Given the description of an element on the screen output the (x, y) to click on. 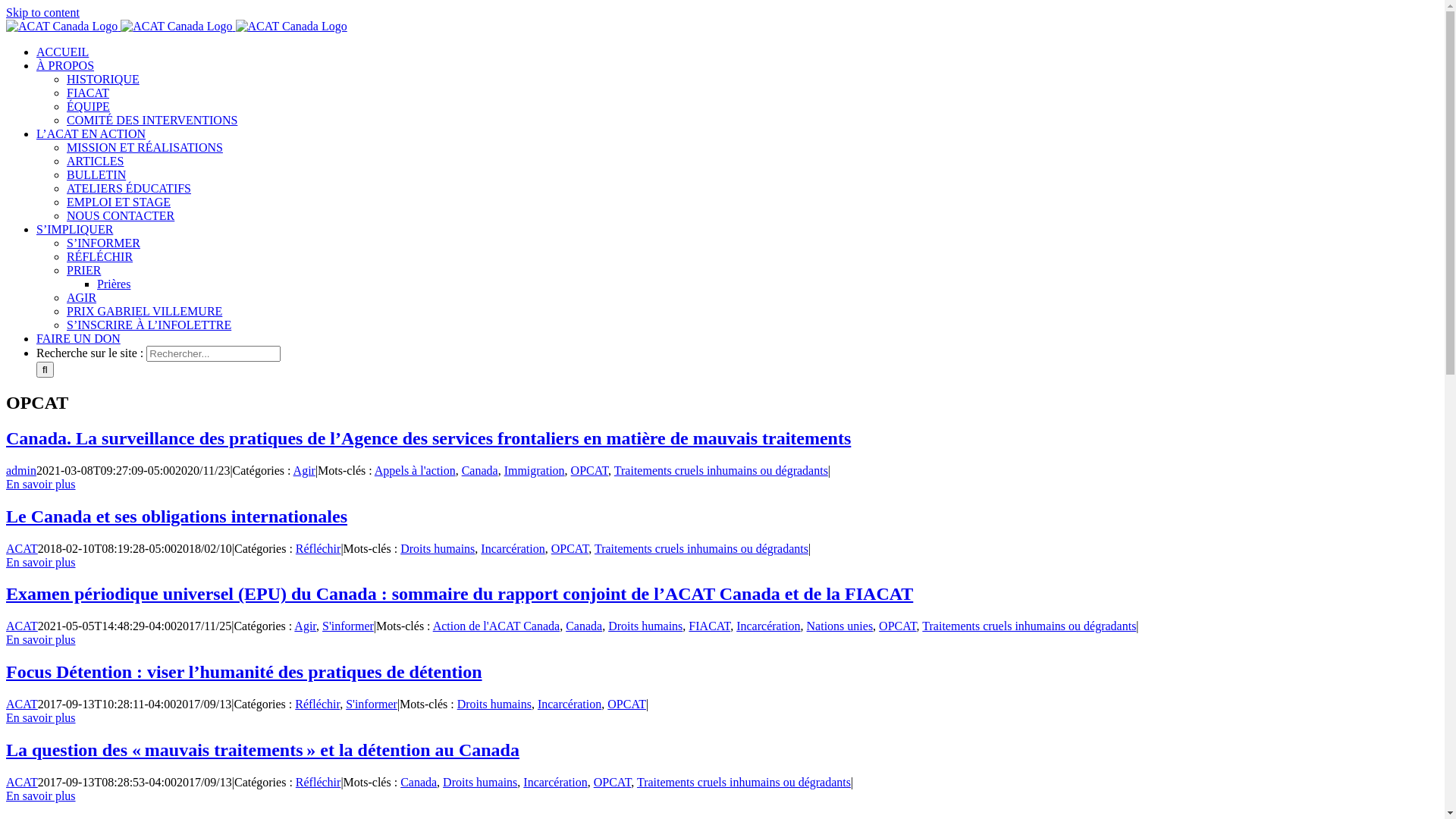
OPCAT Element type: text (570, 548)
En savoir plus Element type: text (40, 639)
ACAT Element type: text (21, 781)
Droits humains Element type: text (645, 625)
Skip to content Element type: text (42, 12)
ACAT Element type: text (21, 625)
En savoir plus Element type: text (40, 561)
admin Element type: text (21, 470)
ACCUEIL Element type: text (62, 51)
Droits humains Element type: text (437, 548)
Agir Element type: text (304, 470)
En savoir plus Element type: text (40, 795)
OPCAT Element type: text (589, 470)
BULLETIN Element type: text (95, 174)
Canada Element type: text (418, 781)
ACAT Element type: text (21, 703)
Le Canada et ses obligations internationales Element type: text (176, 516)
FIACAT Element type: text (87, 92)
HISTORIQUE Element type: text (102, 78)
AGIR Element type: text (81, 297)
Action de l'ACAT Canada Element type: text (496, 625)
S'informer Element type: text (347, 625)
FIACAT Element type: text (709, 625)
ARTICLES Element type: text (94, 160)
Immigration Element type: text (534, 470)
ACAT Element type: text (21, 548)
PRIER Element type: text (83, 269)
Canada Element type: text (479, 470)
Agir Element type: text (305, 625)
FAIRE UN DON Element type: text (78, 338)
En savoir plus Element type: text (40, 483)
S'informer Element type: text (371, 703)
Droits humains Element type: text (479, 781)
PRIX GABRIEL VILLEMURE Element type: text (144, 310)
OPCAT Element type: text (612, 781)
Nations unies Element type: text (839, 625)
NOUS CONTACTER Element type: text (120, 215)
OPCAT Element type: text (897, 625)
OPCAT Element type: text (626, 703)
Canada Element type: text (583, 625)
EMPLOI ET STAGE Element type: text (118, 201)
En savoir plus Element type: text (40, 717)
Droits humains Element type: text (494, 703)
